Given the description of an element on the screen output the (x, y) to click on. 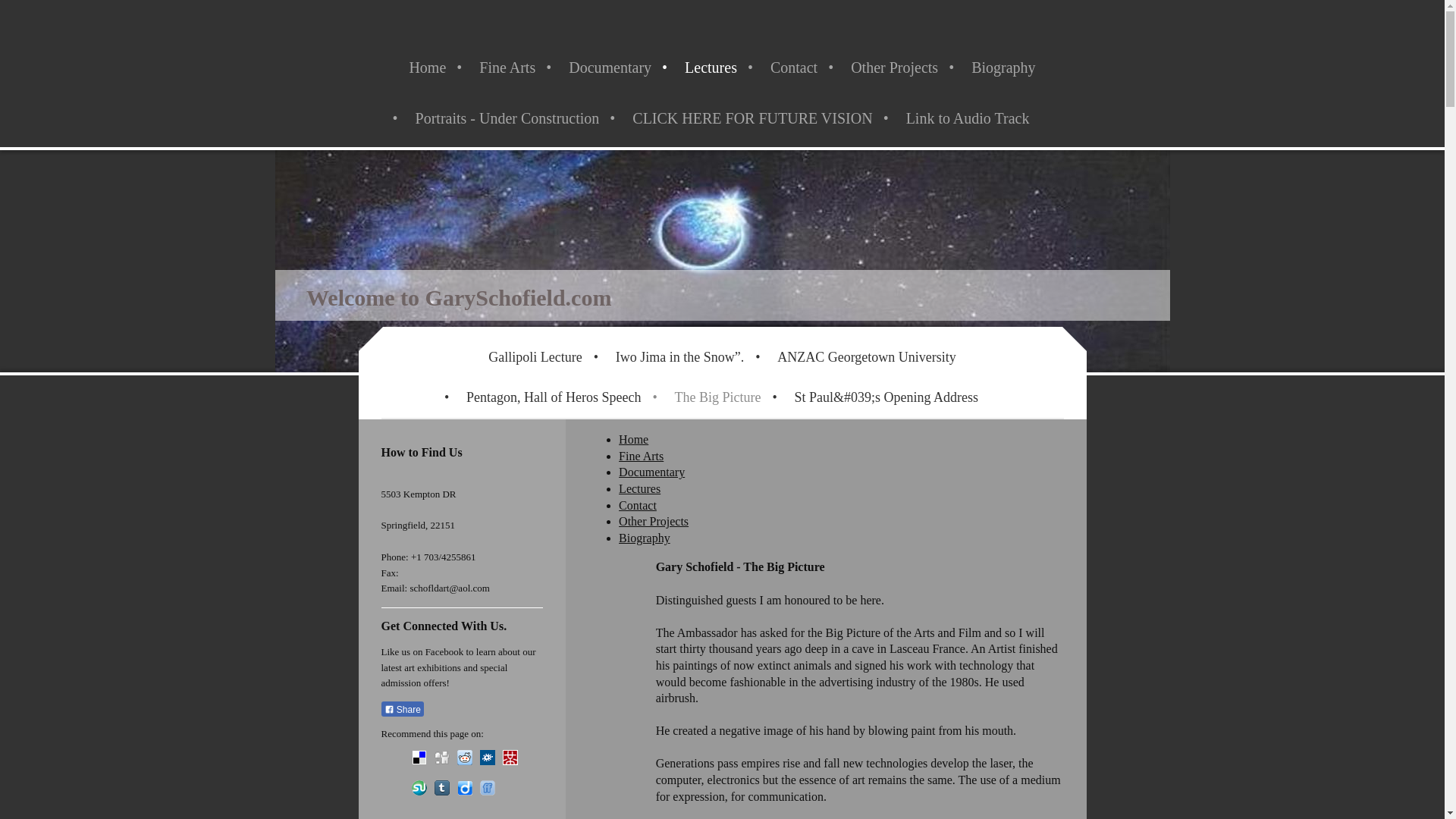
Mister Wong (509, 757)
Tumblr (440, 787)
Digg (440, 757)
FriendFeed (487, 787)
Welcome to GarySchofield.com (458, 297)
Delicious (418, 757)
Stumble Upon (418, 787)
Reddit (464, 757)
Diigo (464, 787)
Folkd (487, 757)
